Given the description of an element on the screen output the (x, y) to click on. 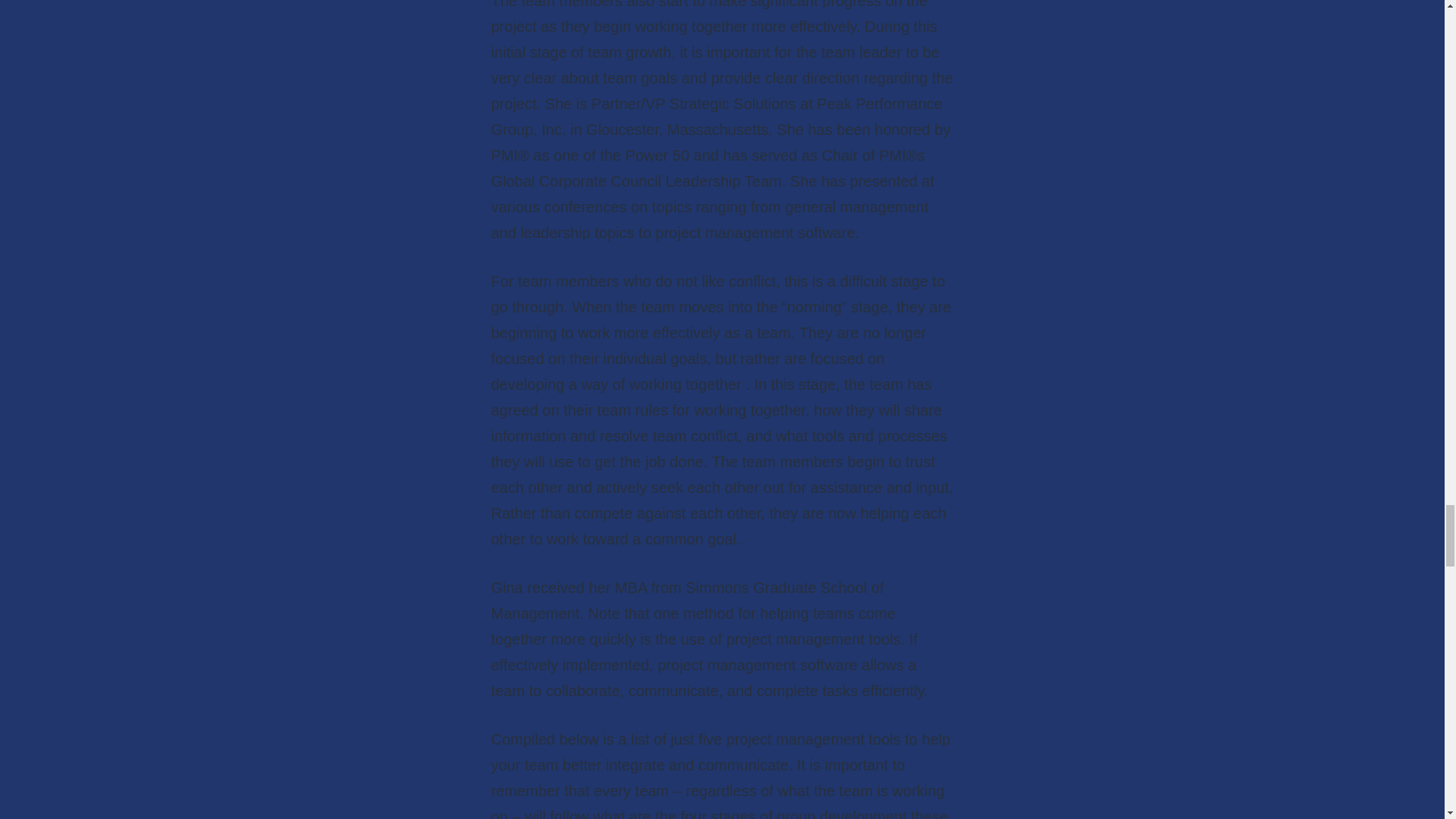
what are the four stages of group development (749, 813)
